Given the description of an element on the screen output the (x, y) to click on. 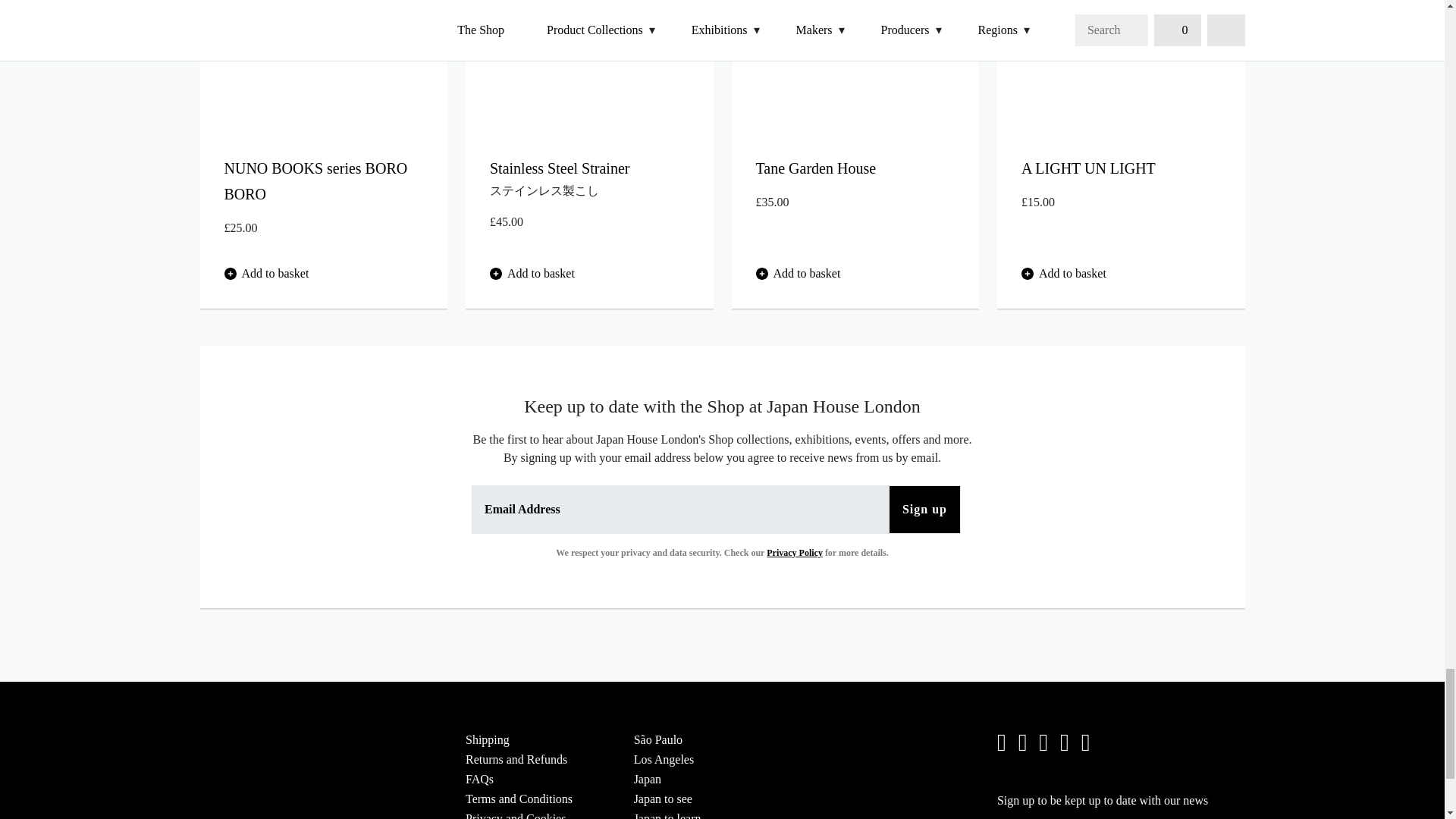
Sign up (924, 509)
